Given the description of an element on the screen output the (x, y) to click on. 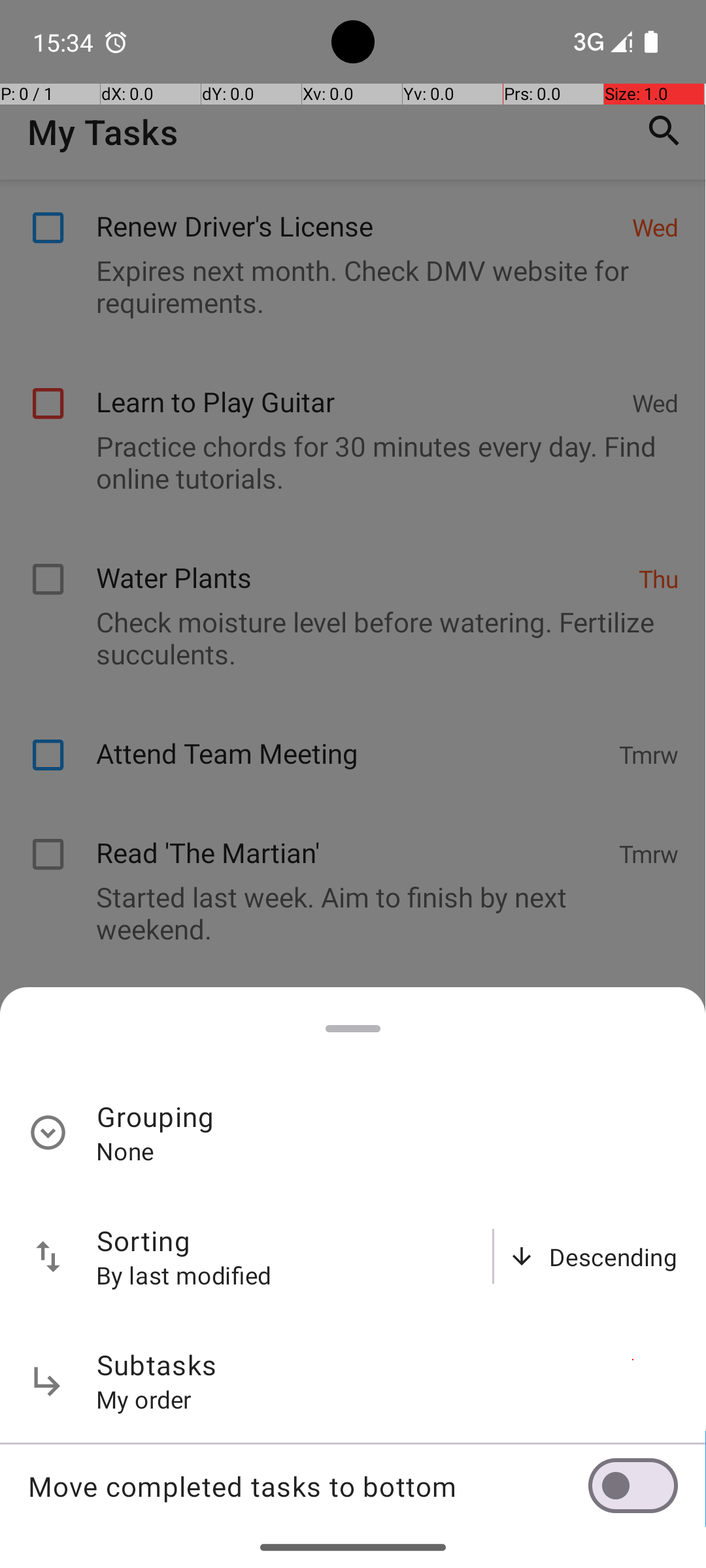
By last modified Element type: android.widget.TextView (183, 1274)
